Given the description of an element on the screen output the (x, y) to click on. 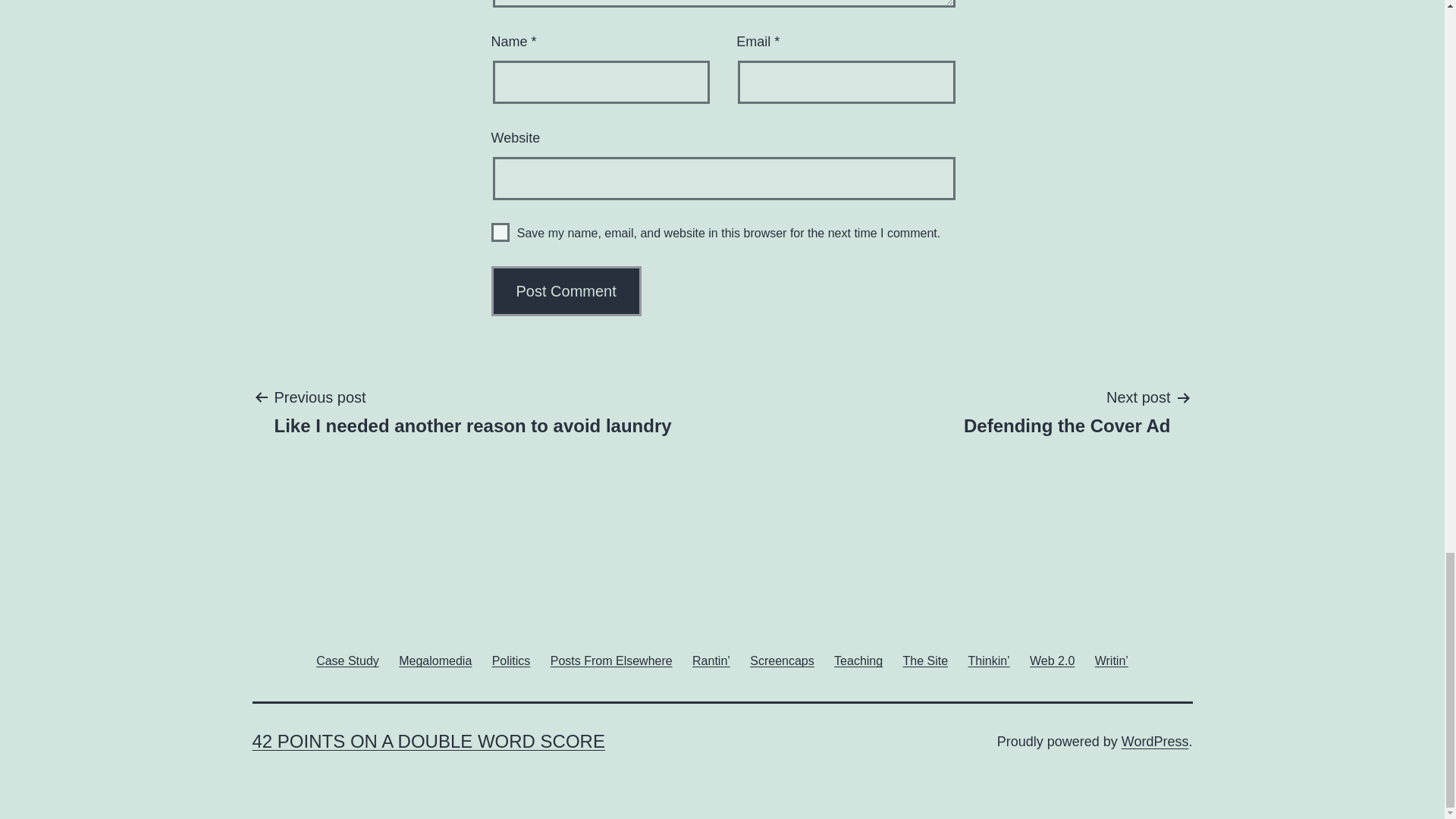
yes (1067, 410)
WordPress (500, 231)
42 POINTS ON A DOUBLE WORD SCORE (1155, 741)
Post Comment (427, 741)
Case Study (567, 291)
The Site (346, 660)
Teaching (925, 660)
Posts From Elsewhere (858, 660)
Politics (472, 410)
Megalomedia (611, 660)
Web 2.0 (510, 660)
Post Comment (434, 660)
Screencaps (1052, 660)
